Given the description of an element on the screen output the (x, y) to click on. 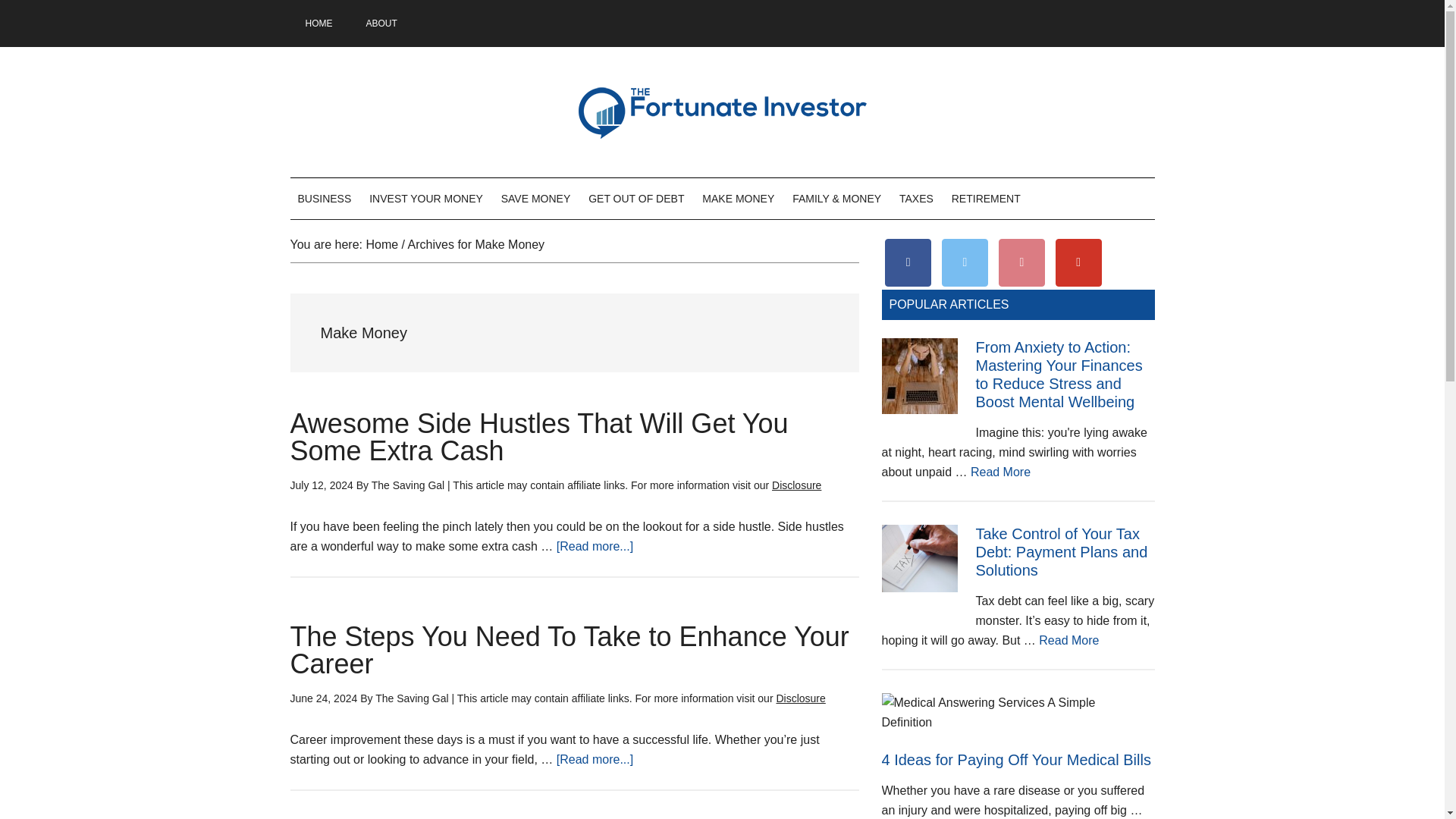
TAXES (915, 198)
MAKE MONEY (737, 198)
Disclosure (796, 485)
Disclosure (800, 698)
Awesome Side Hustles That Will Get You Some Extra Cash (538, 436)
RETIREMENT (985, 198)
INVEST YOUR MONEY (425, 198)
The Fortunate Investor on Facebook (908, 262)
The Fortunate Investor on Pinterest (1021, 262)
ABOUT (381, 23)
The Fortunate Investor (721, 112)
SAVE MONEY (535, 198)
